Given the description of an element on the screen output the (x, y) to click on. 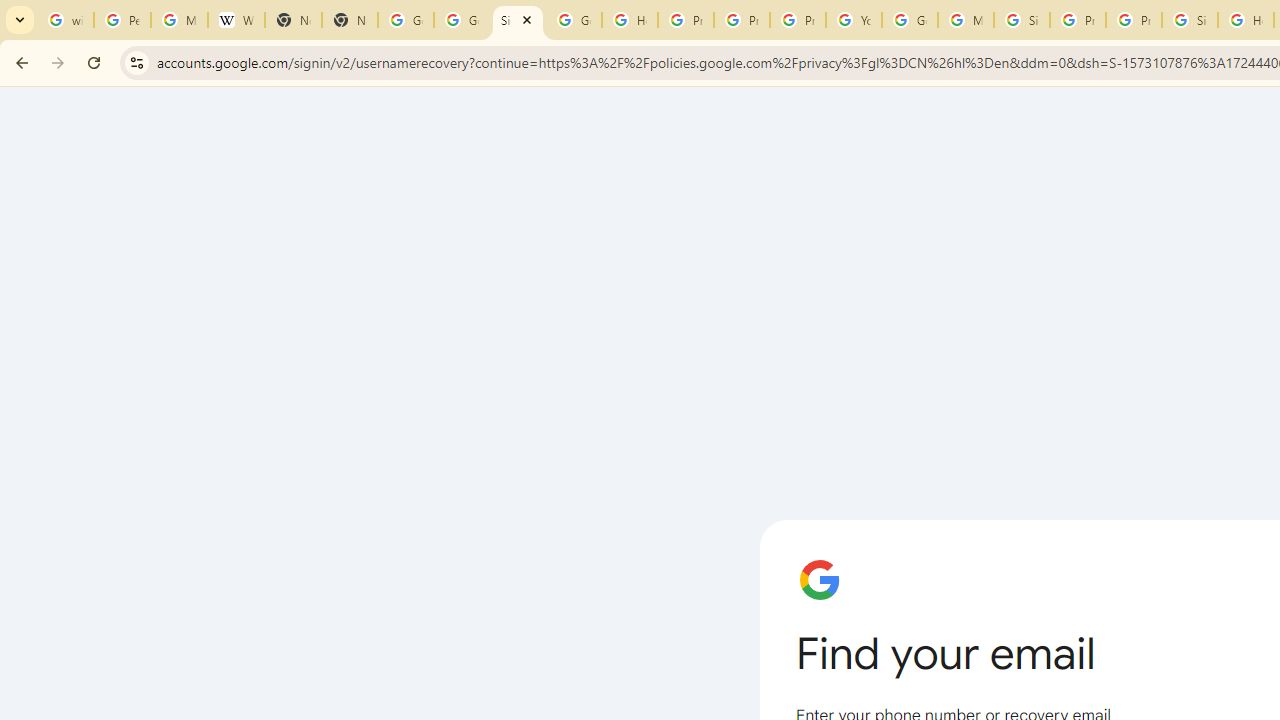
Wikipedia:Edit requests - Wikipedia (235, 20)
Sign in - Google Accounts (1190, 20)
Manage your Location History - Google Search Help (179, 20)
